Given the description of an element on the screen output the (x, y) to click on. 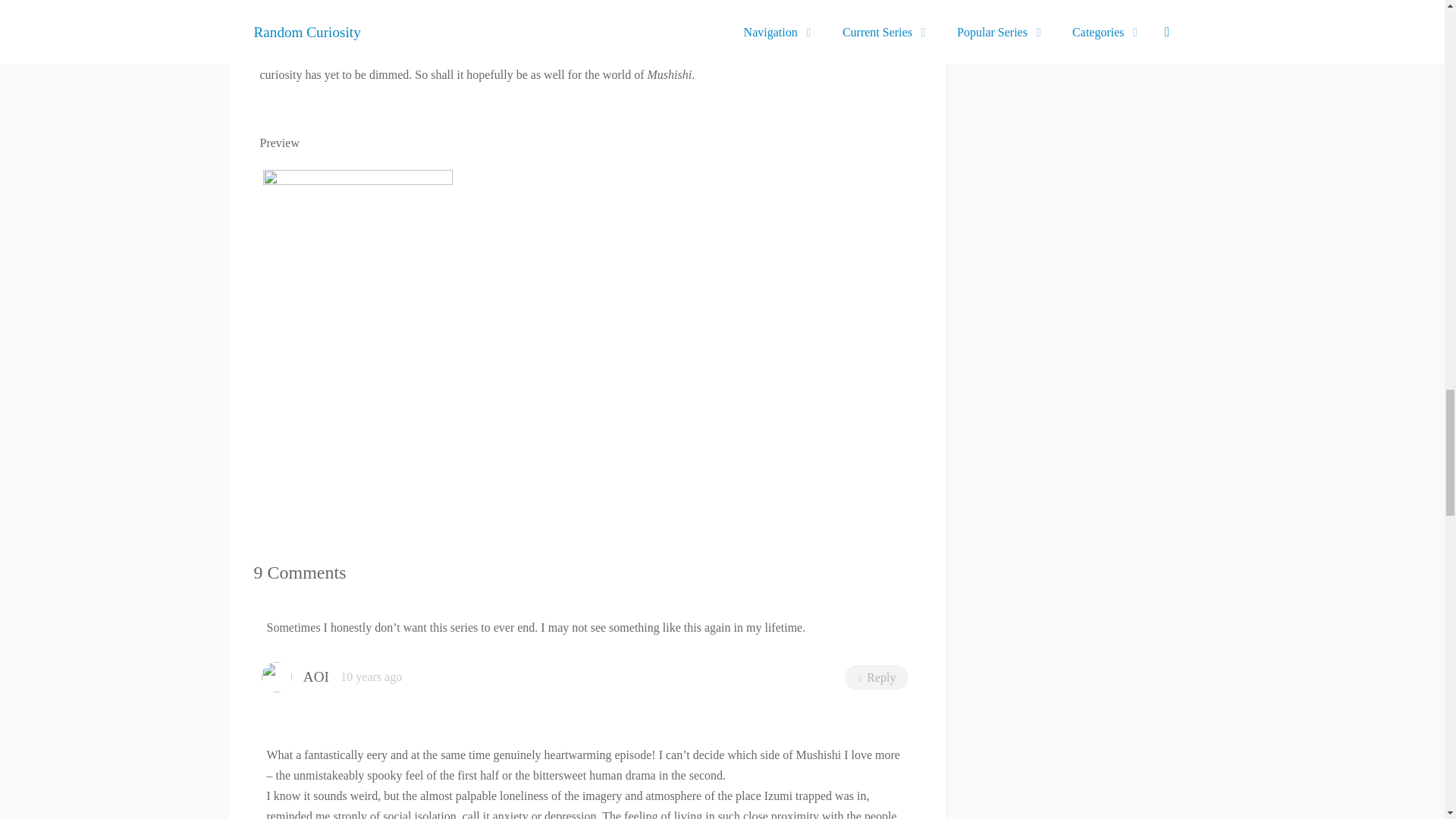
Advertisement (584, 444)
